Given the description of an element on the screen output the (x, y) to click on. 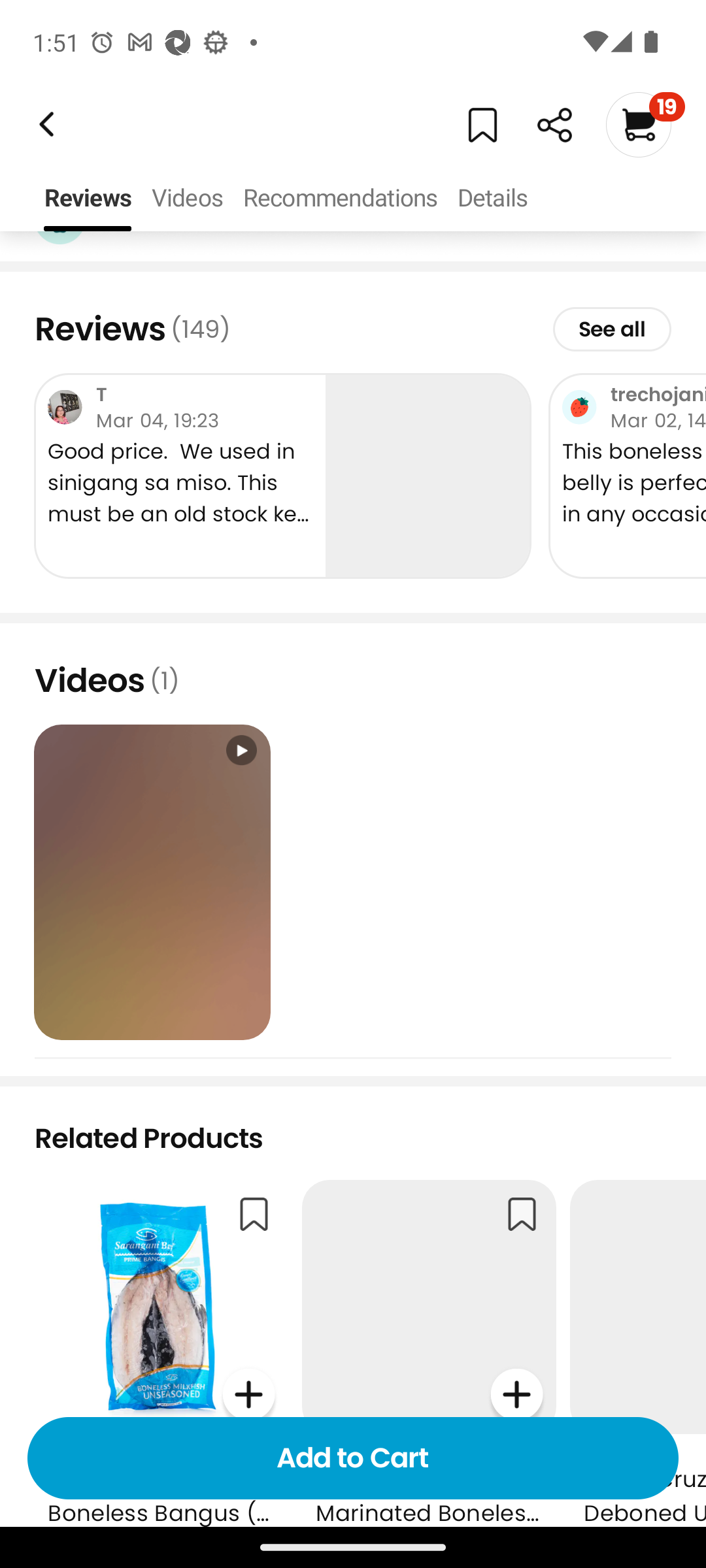
19 (644, 124)
Weee! (45, 124)
Weee! (554, 125)
Reviews (87, 199)
Videos (186, 199)
Recommendations (339, 199)
Details (491, 199)
Reviews (149) See all (353, 328)
Add to Cart (352, 1458)
